Given the description of an element on the screen output the (x, y) to click on. 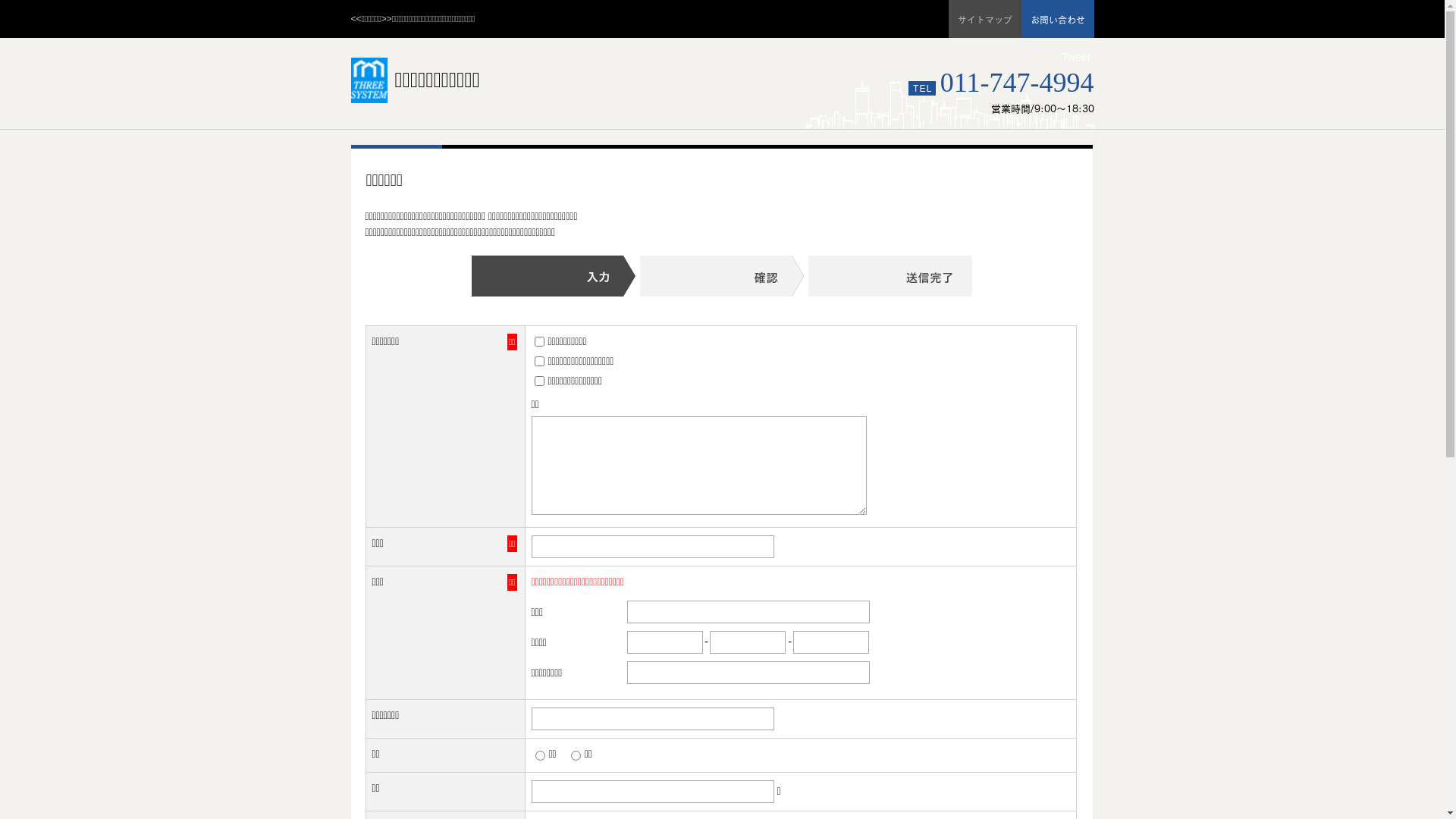
Tweet Element type: text (1075, 56)
